Given the description of an element on the screen output the (x, y) to click on. 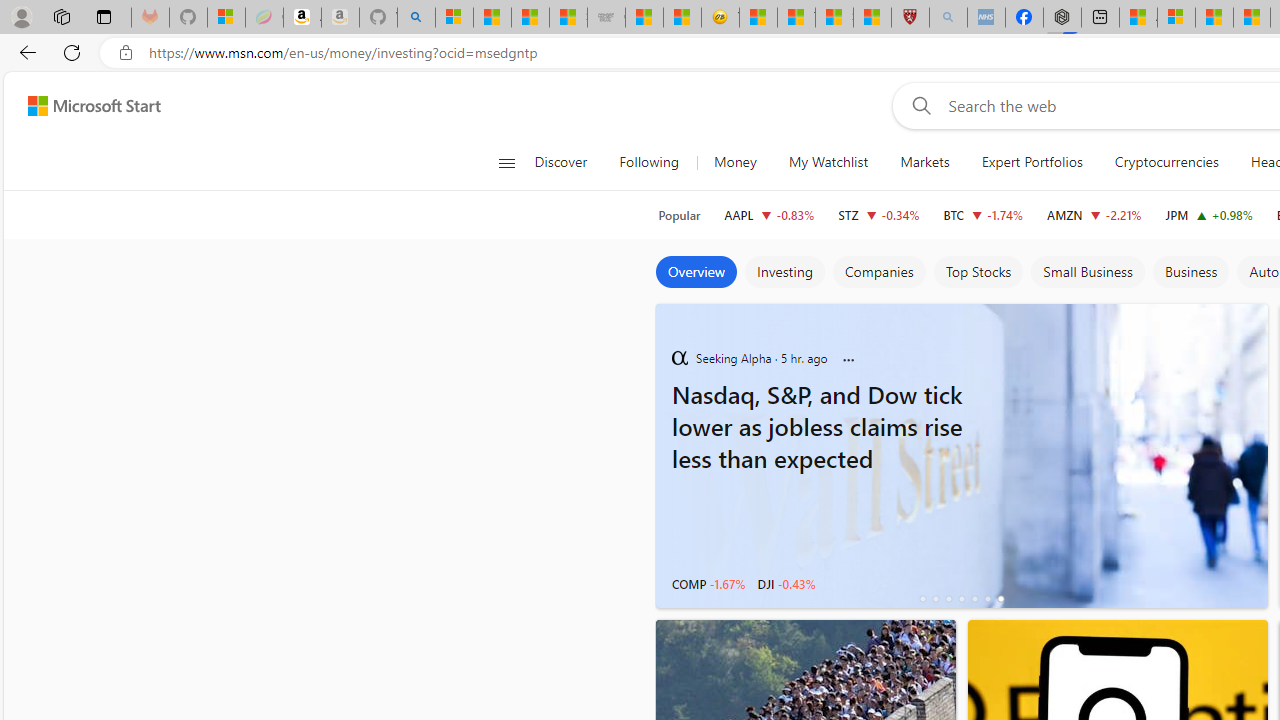
STZ CONSTELLATION BRANDS, INC. decrease 243.92 -0.82 -0.34% (878, 214)
NCL Adult Asthma Inhaler Choice Guideline - Sleeping (985, 17)
JPM JPMORGAN CHASE & CO. increase 216.71 +2.11 +0.98% (1208, 214)
COMP -1.67% (708, 583)
Cryptocurrencies (1166, 162)
AMZN AMAZON.COM, INC. decrease 176.13 -3.98 -2.21% (1094, 214)
Business (1190, 272)
Web search (917, 105)
